Given the description of an element on the screen output the (x, y) to click on. 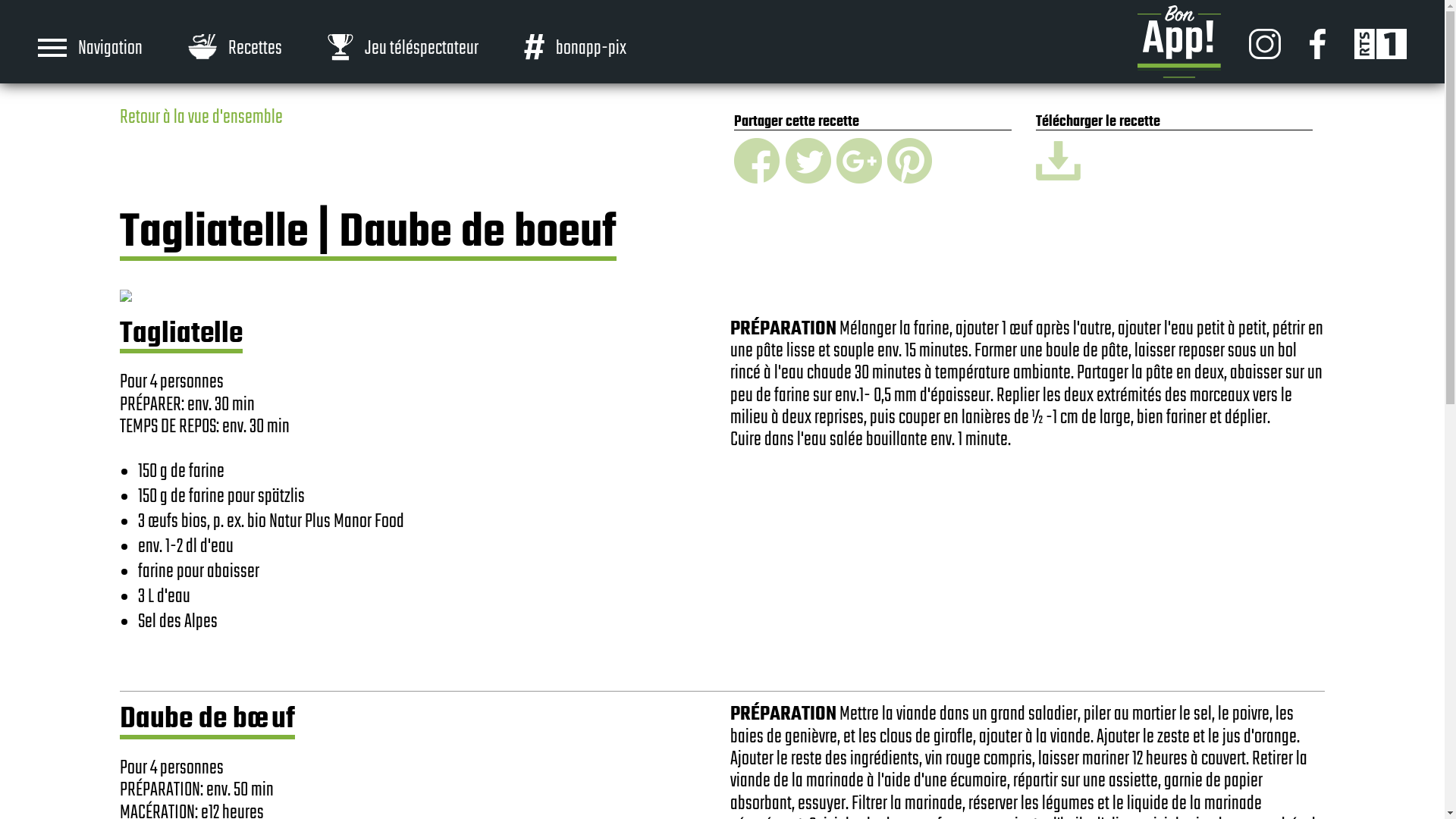
Recettes Element type: text (235, 47)
bonapp-pix Element type: text (575, 47)
Navigation Element type: text (112, 47)
